Given the description of an element on the screen output the (x, y) to click on. 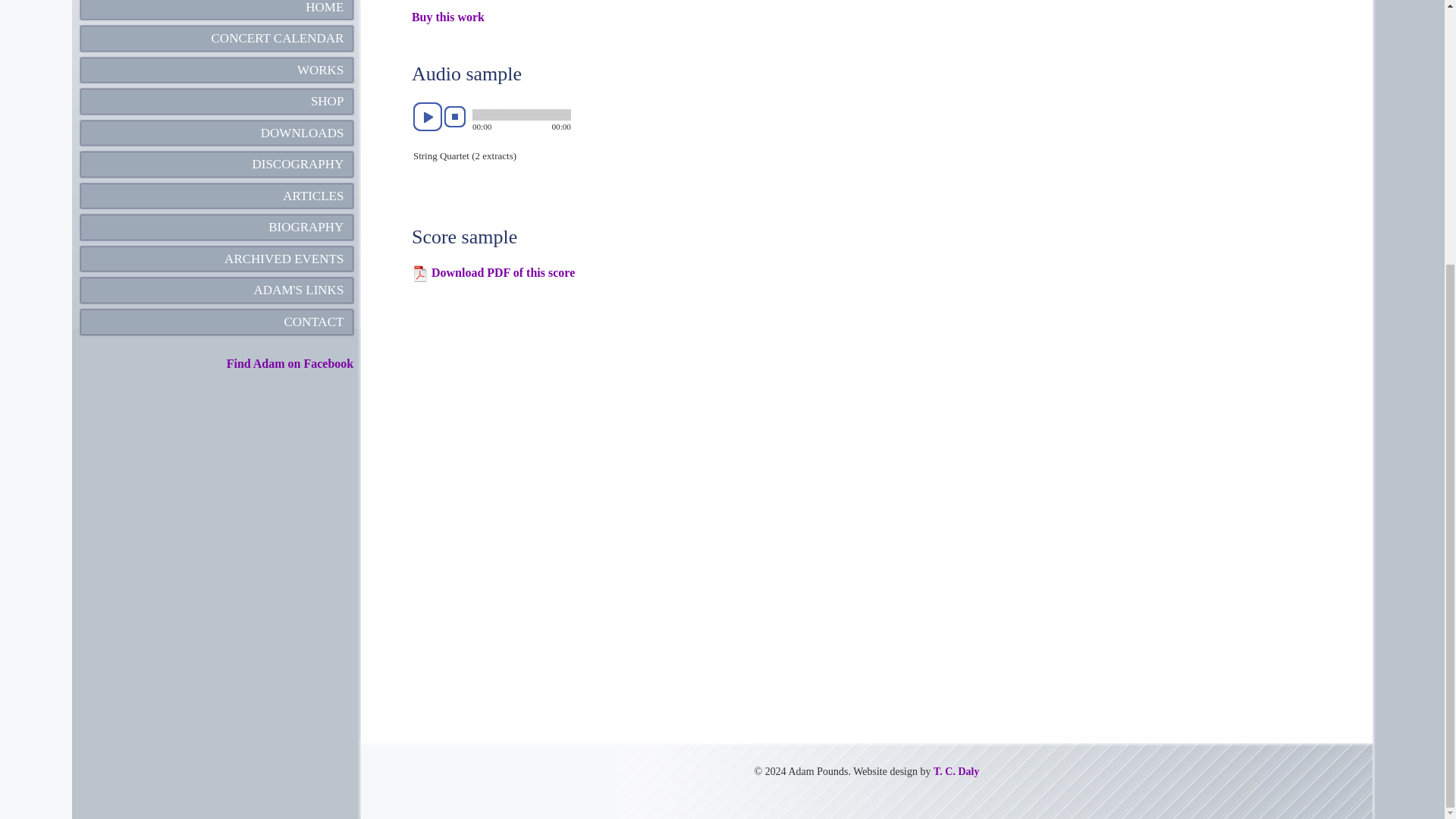
DOWNLOADS (301, 132)
Buy this work (448, 16)
Download PDF of this score (502, 272)
SHOP (327, 100)
T. C. Daly (955, 771)
CONTACT (313, 322)
BIOGRAPHY (305, 227)
HOME (324, 8)
WORKS (320, 69)
ARTICLES (312, 195)
ADAM'S LINKS (298, 290)
stop (454, 116)
ARCHIVED EVENTS (283, 258)
Find Adam on Facebook (290, 363)
CONCERT CALENDAR (277, 37)
